Given the description of an element on the screen output the (x, y) to click on. 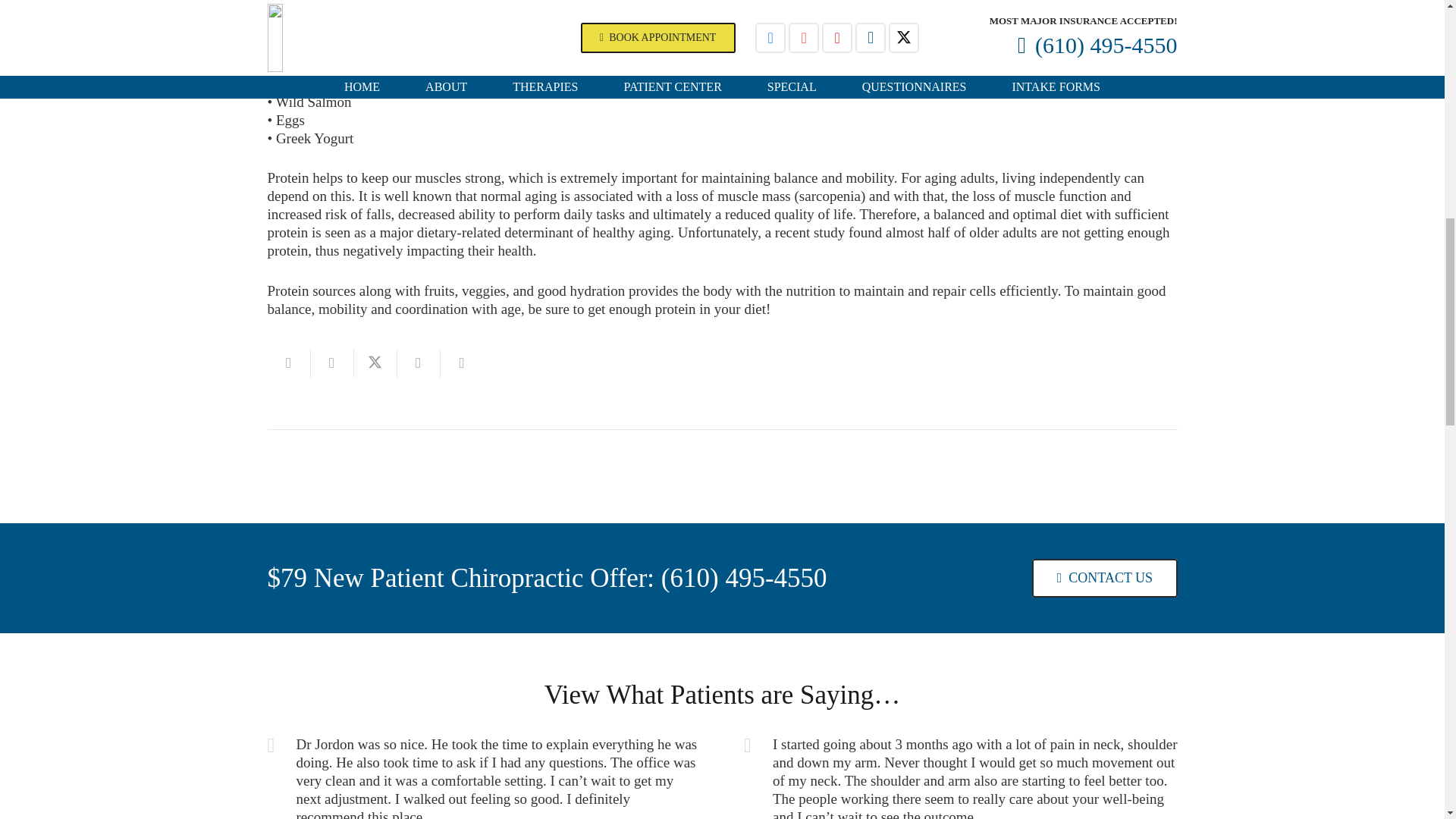
Email this (288, 362)
Share this (419, 362)
Pin this (461, 362)
Contact Us (1104, 577)
Share this (332, 362)
Tweet this (374, 362)
